Given the description of an element on the screen output the (x, y) to click on. 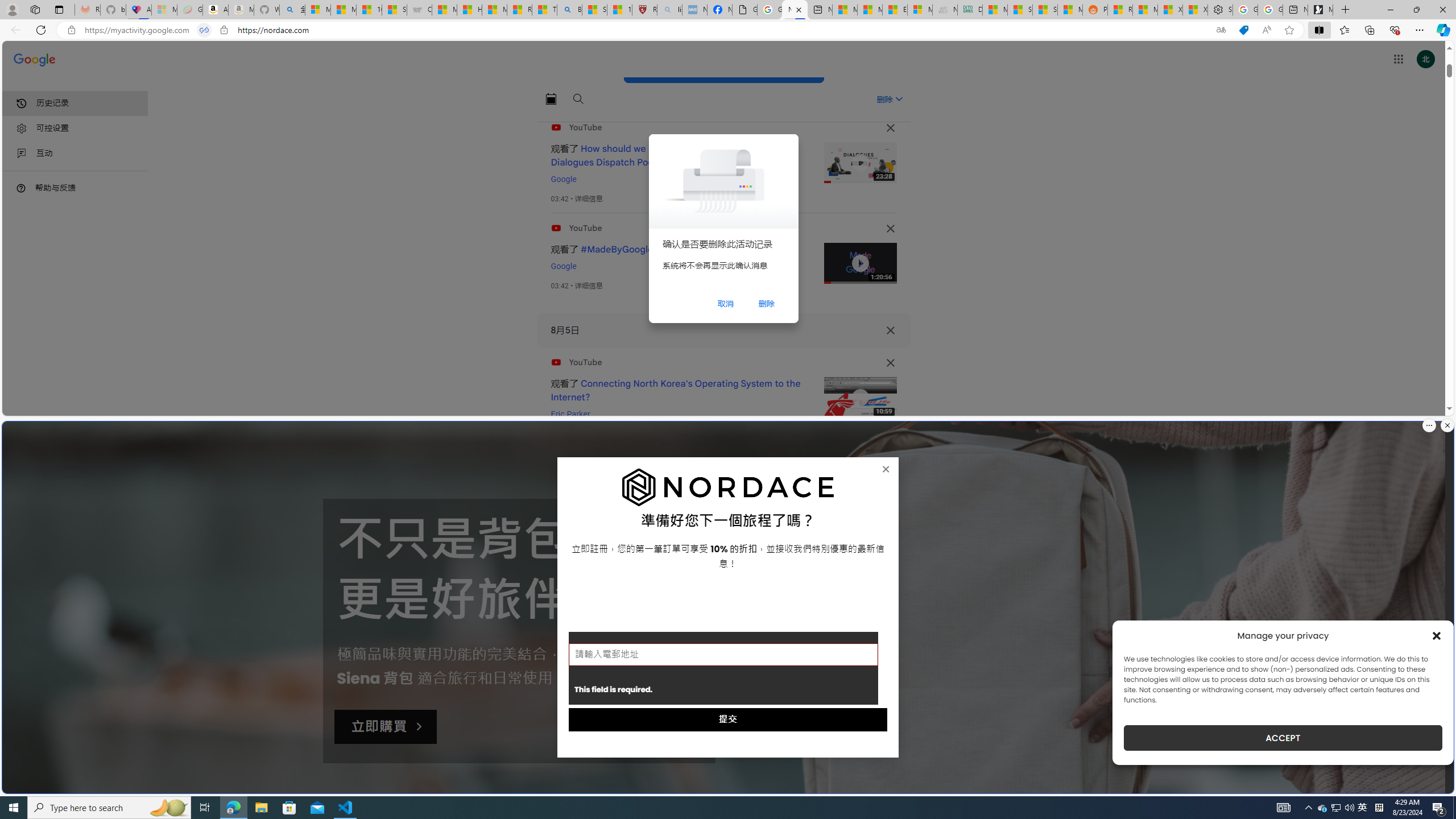
Class: DTiKkd NMm5M (21, 188)
